Given the description of an element on the screen output the (x, y) to click on. 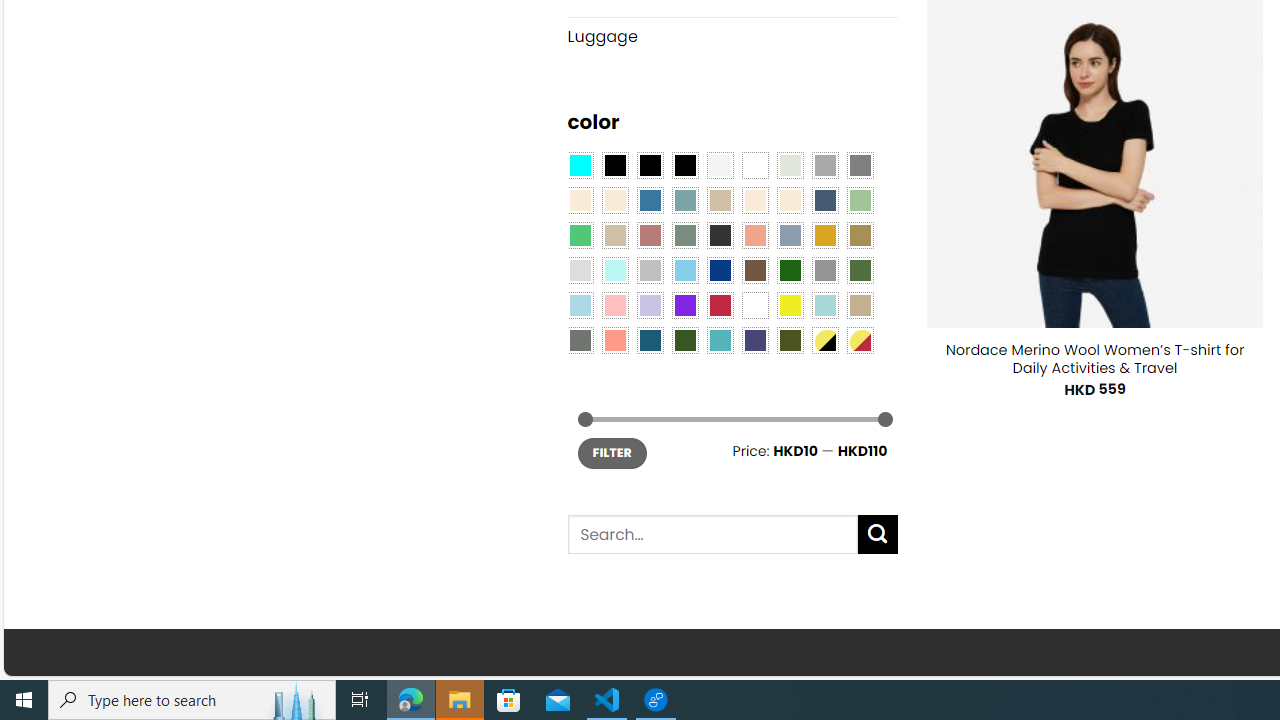
Silver (650, 269)
Purple (684, 305)
Teal (719, 339)
Capri Blue (650, 339)
Peach Pink (614, 339)
Yellow-Red (859, 339)
Ash Gray (789, 164)
Hale Navy (824, 200)
Cream (789, 200)
Light Purple (650, 305)
Dull Nickle (579, 339)
Blue Sage (684, 200)
Dark Green (789, 269)
Gray (824, 269)
Yellow-Black (824, 339)
